Given the description of an element on the screen output the (x, y) to click on. 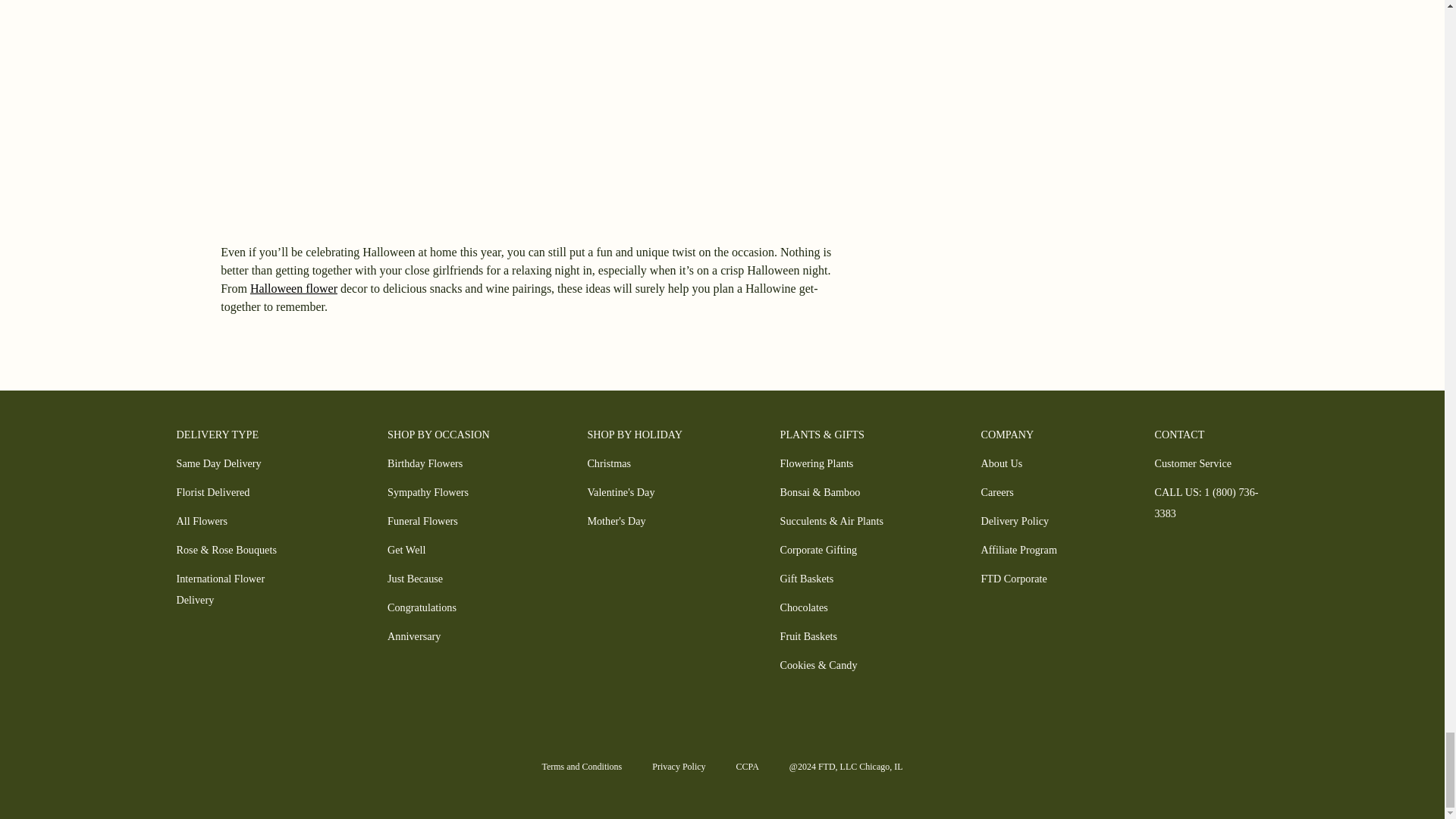
Get Well (406, 549)
Sympathy Flowers (427, 491)
All Flowers (201, 521)
Birthday Flowers (425, 463)
Florist Delivered (212, 491)
Halloween flower (293, 287)
Same Day Delivery (218, 463)
Congratulations (422, 607)
Funeral Flowers (422, 521)
Just Because (414, 578)
International Flower Delivery (220, 589)
